Given the description of an element on the screen output the (x, y) to click on. 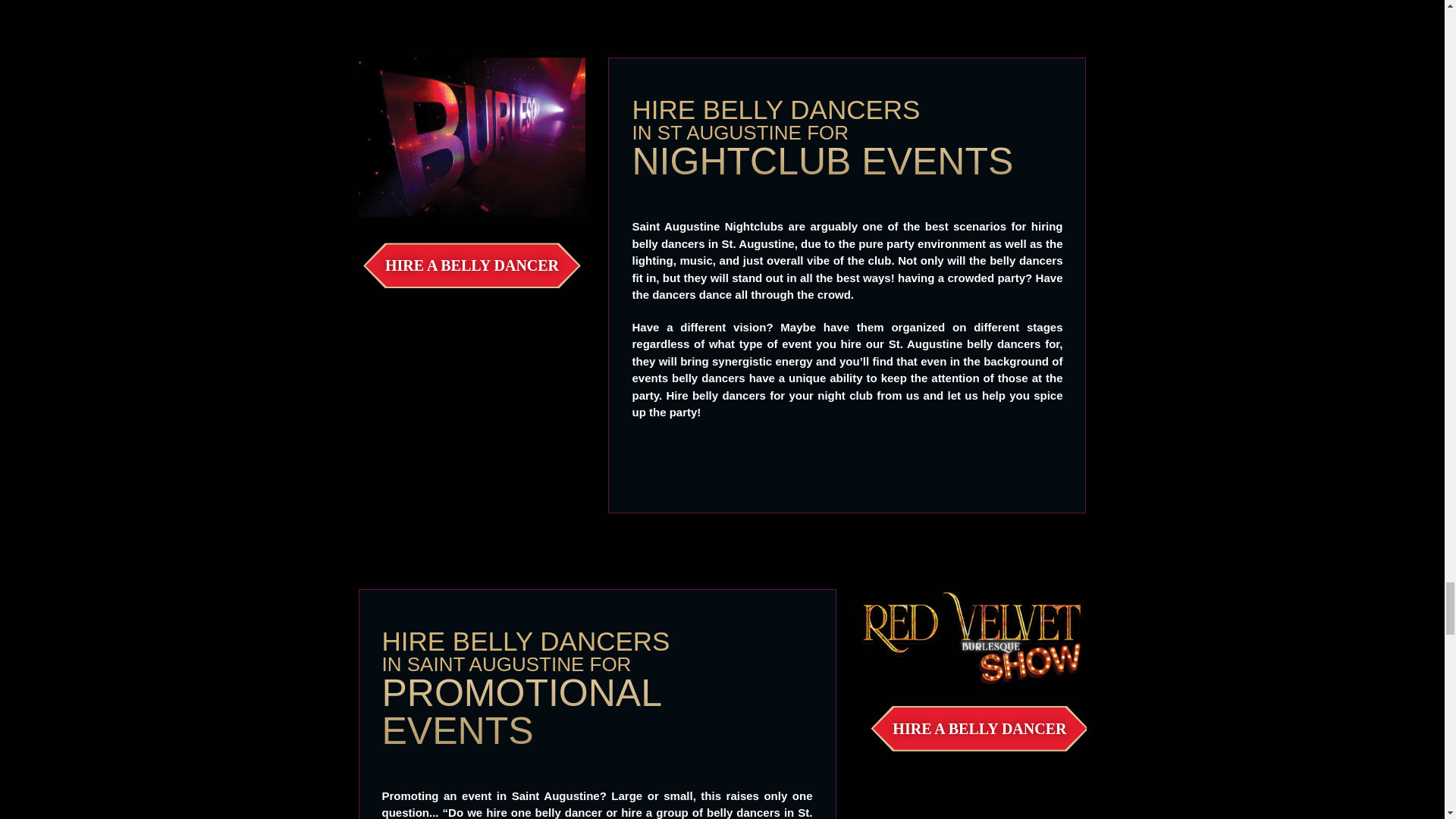
HIRE A BELLY DANCER (471, 265)
HIRE A BELLY DANCER (979, 728)
